Given the description of an element on the screen output the (x, y) to click on. 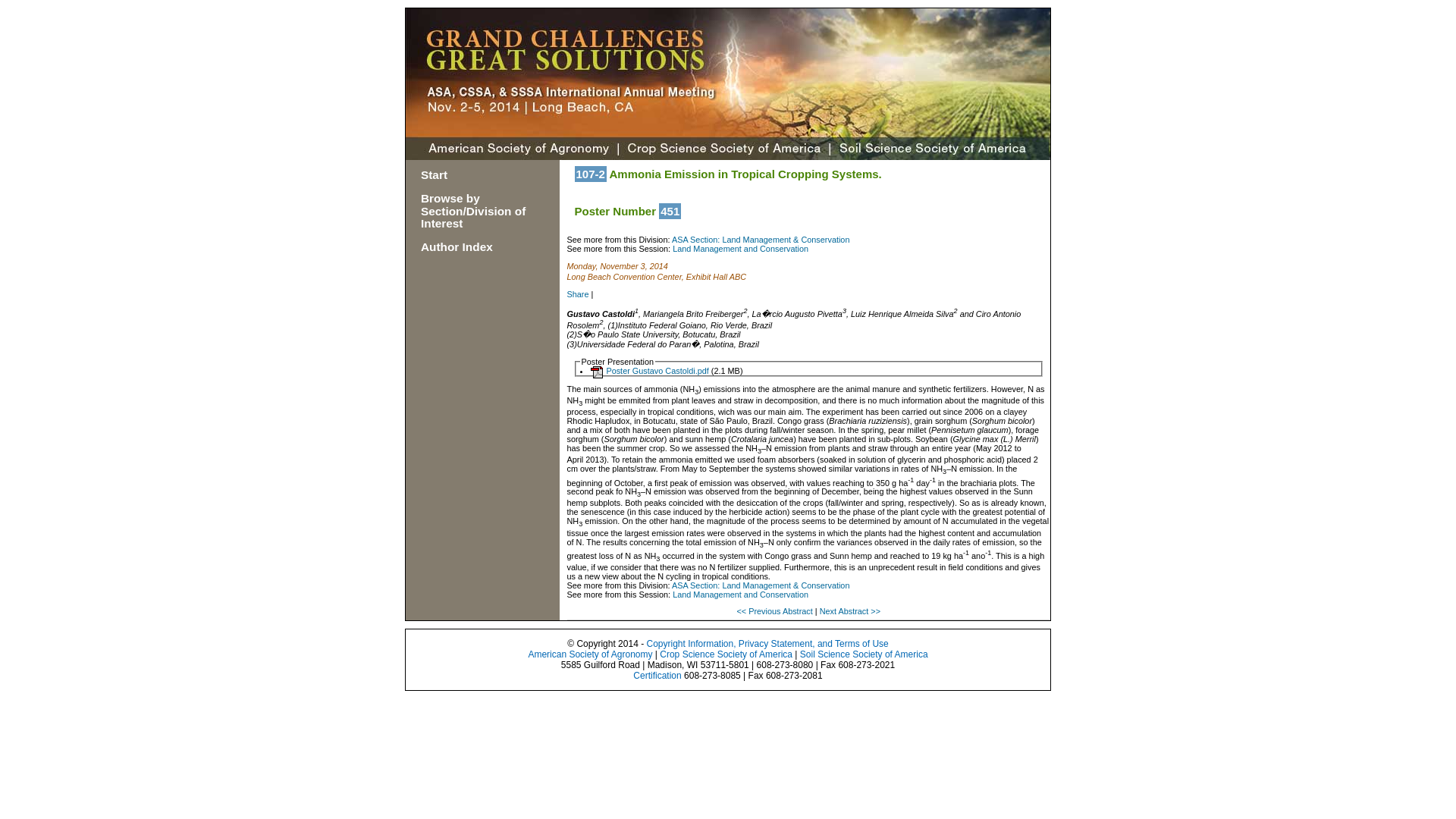
Author Index (456, 246)
American Society of Agronomy (589, 654)
Land Management and Conservation (740, 593)
Start (433, 174)
Soil Science Society of America (863, 654)
Certification (657, 675)
Copyright Information, Privacy Statement, and Terms of Use (767, 643)
Land Management and Conservation (740, 248)
Poster Gustavo Castoldi.pdf (649, 378)
Crop Science Society of America (725, 654)
Share (578, 293)
